Given the description of an element on the screen output the (x, y) to click on. 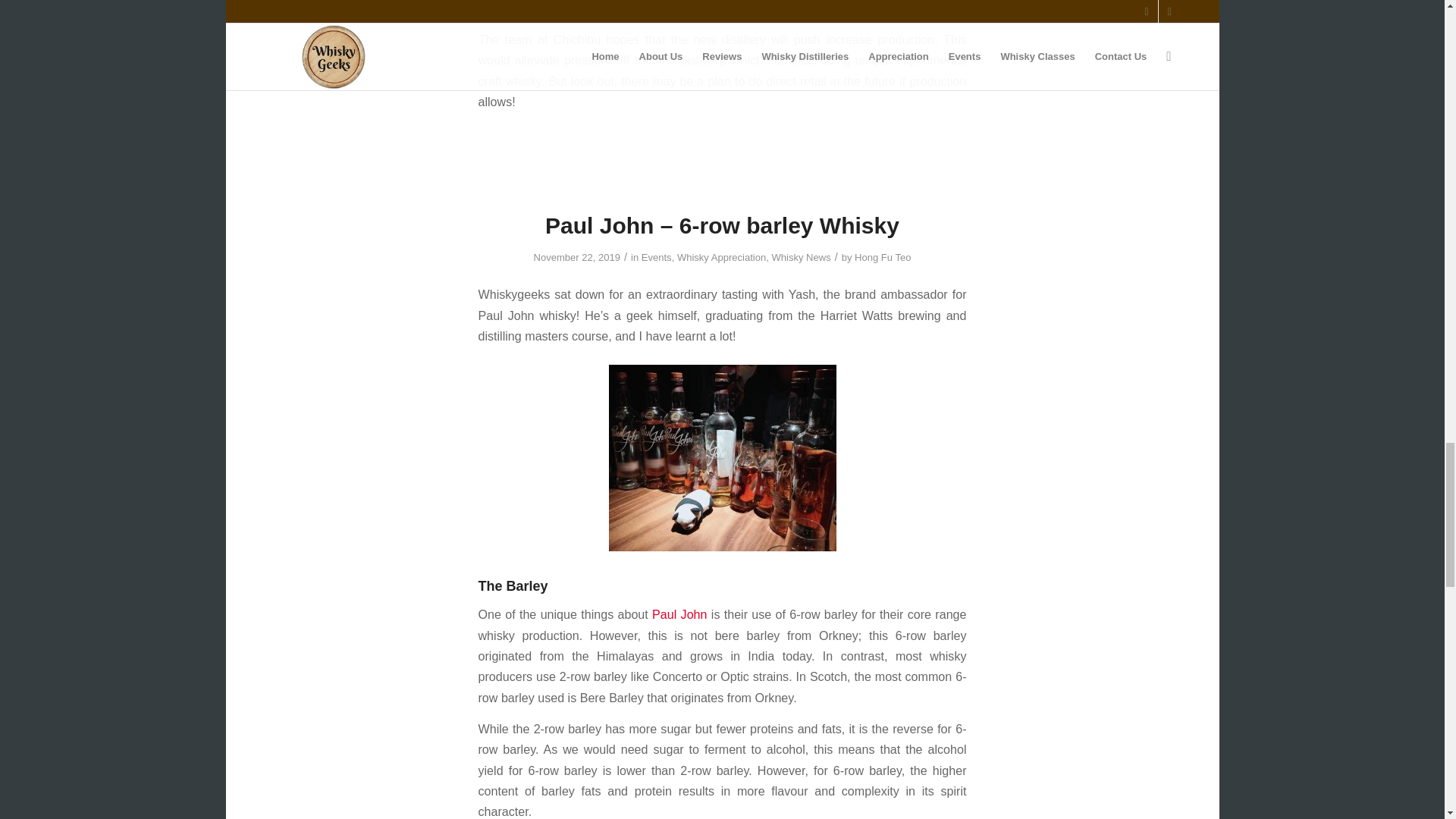
Posts by Hong Fu Teo (882, 256)
Hong Fu Teo (882, 256)
Whisky News (800, 256)
Whisky Appreciation (721, 256)
Paul John (681, 613)
Events (656, 256)
